Given the description of an element on the screen output the (x, y) to click on. 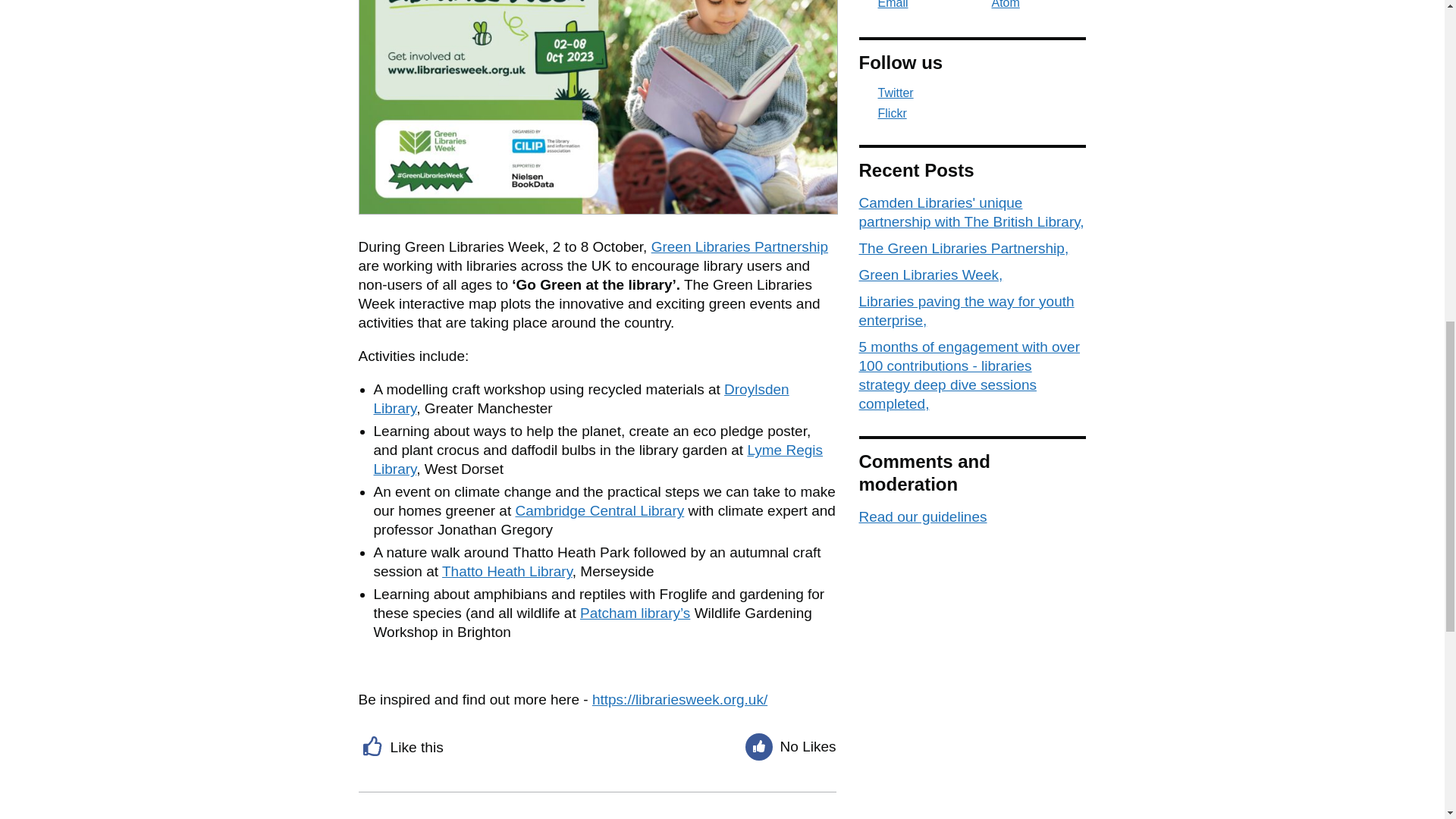
Cambridge Central Library (599, 510)
Green Libraries Partnership (739, 246)
Read our guidelines (923, 516)
Email (883, 4)
Atom (995, 4)
Like this (402, 745)
Twitter (972, 92)
Green Libraries Week (931, 274)
Droylsden Library (580, 398)
Lyme Regis Library (597, 459)
Thatto Heath Library (507, 571)
Libraries paving the way for youth enterprise (966, 310)
The Green Libraries Partnership (963, 248)
Flickr (972, 113)
